Given the description of an element on the screen output the (x, y) to click on. 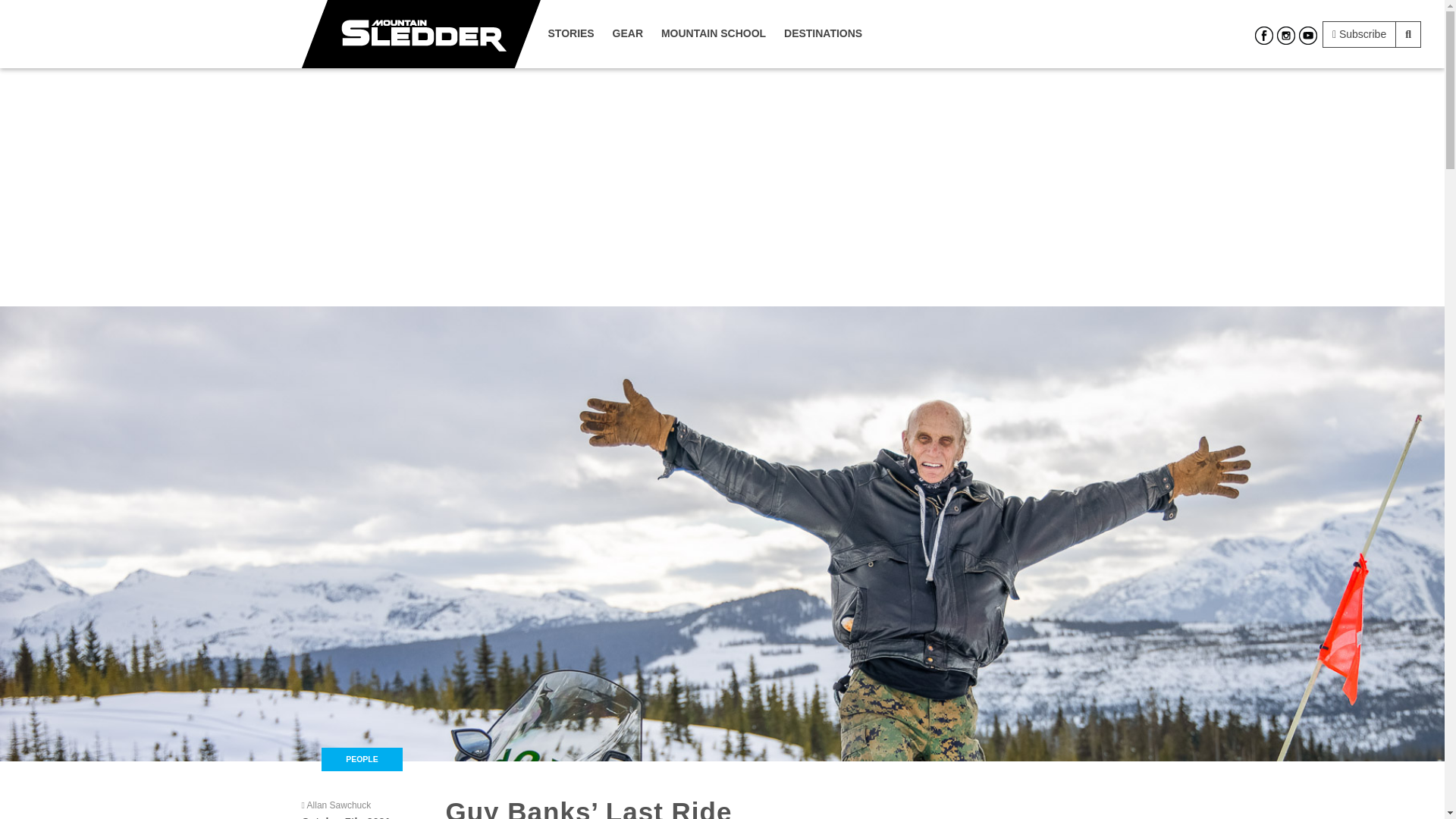
Mountain Sledder on Facebook (1263, 35)
Mountain Sledder on Youtube (1307, 35)
Mountain Sledder (420, 33)
3rd party ad content (1062, 806)
Mountain Sledder on Instagram (1285, 35)
STORIES (570, 33)
